Given the description of an element on the screen output the (x, y) to click on. 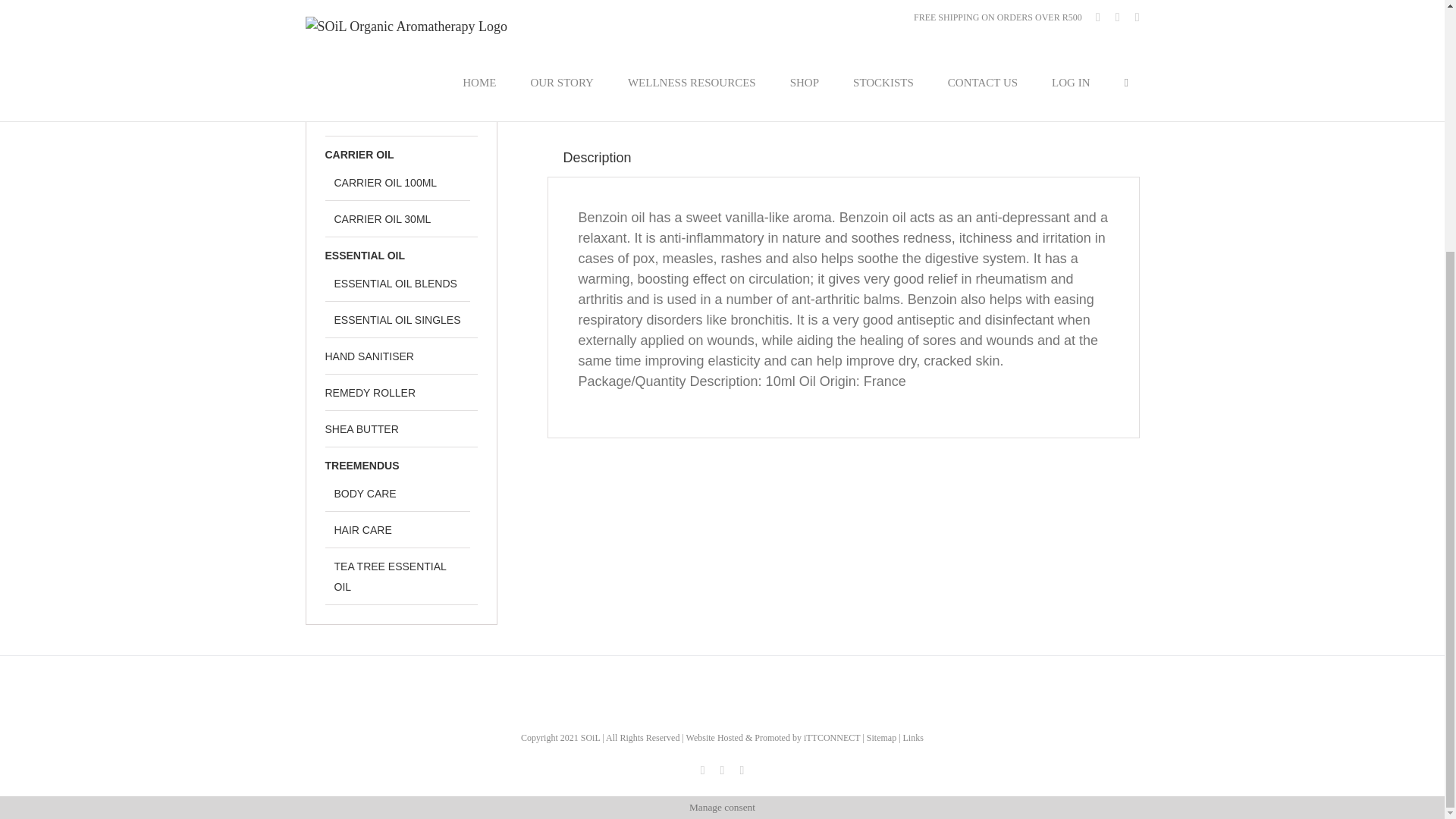
Description (597, 157)
1 (881, 1)
Essential Oil Singles (1050, 83)
All Products (944, 83)
Add to basket (997, 2)
